Given the description of an element on the screen output the (x, y) to click on. 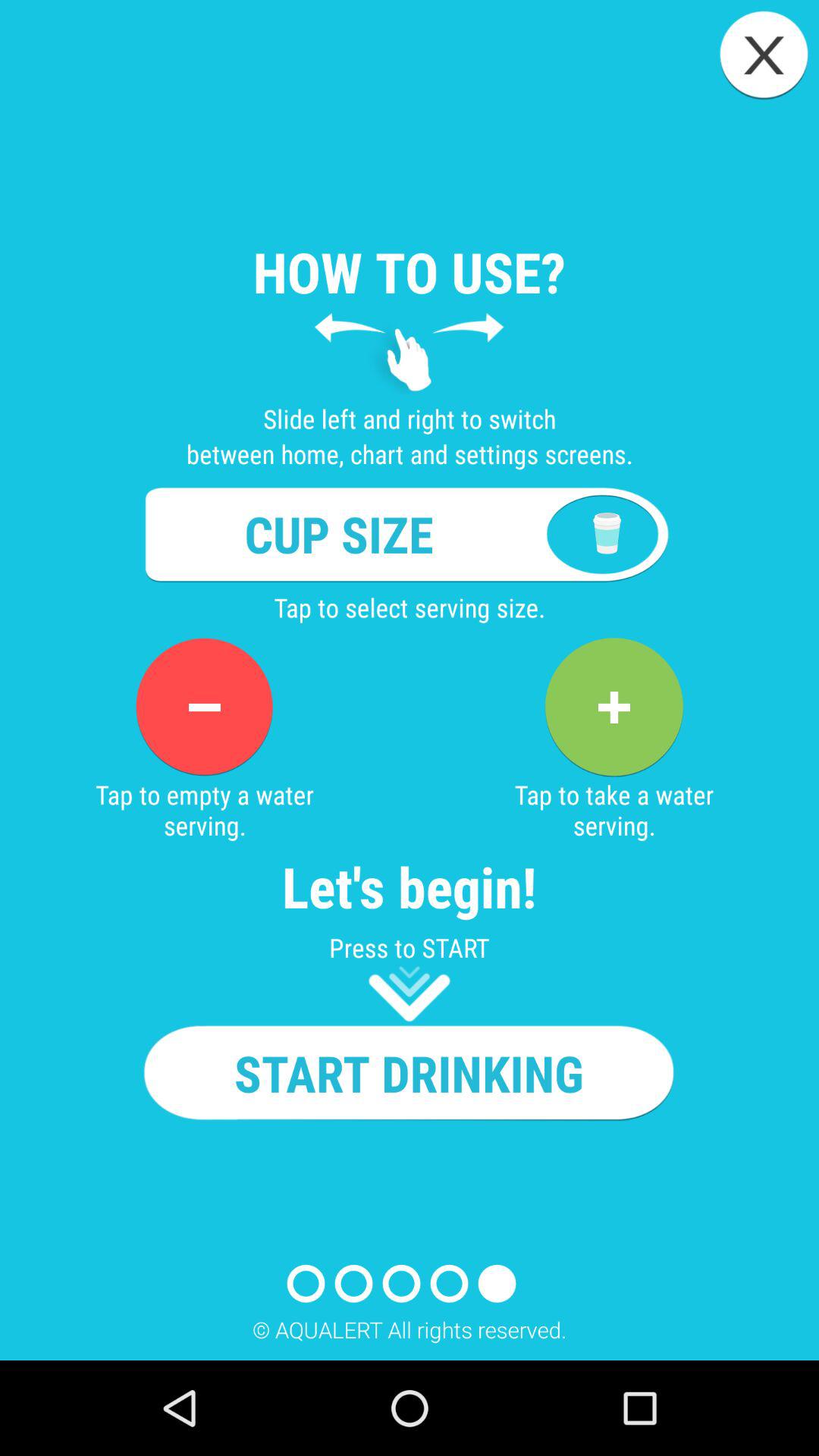
select tap to take a water (613, 706)
